Given the description of an element on the screen output the (x, y) to click on. 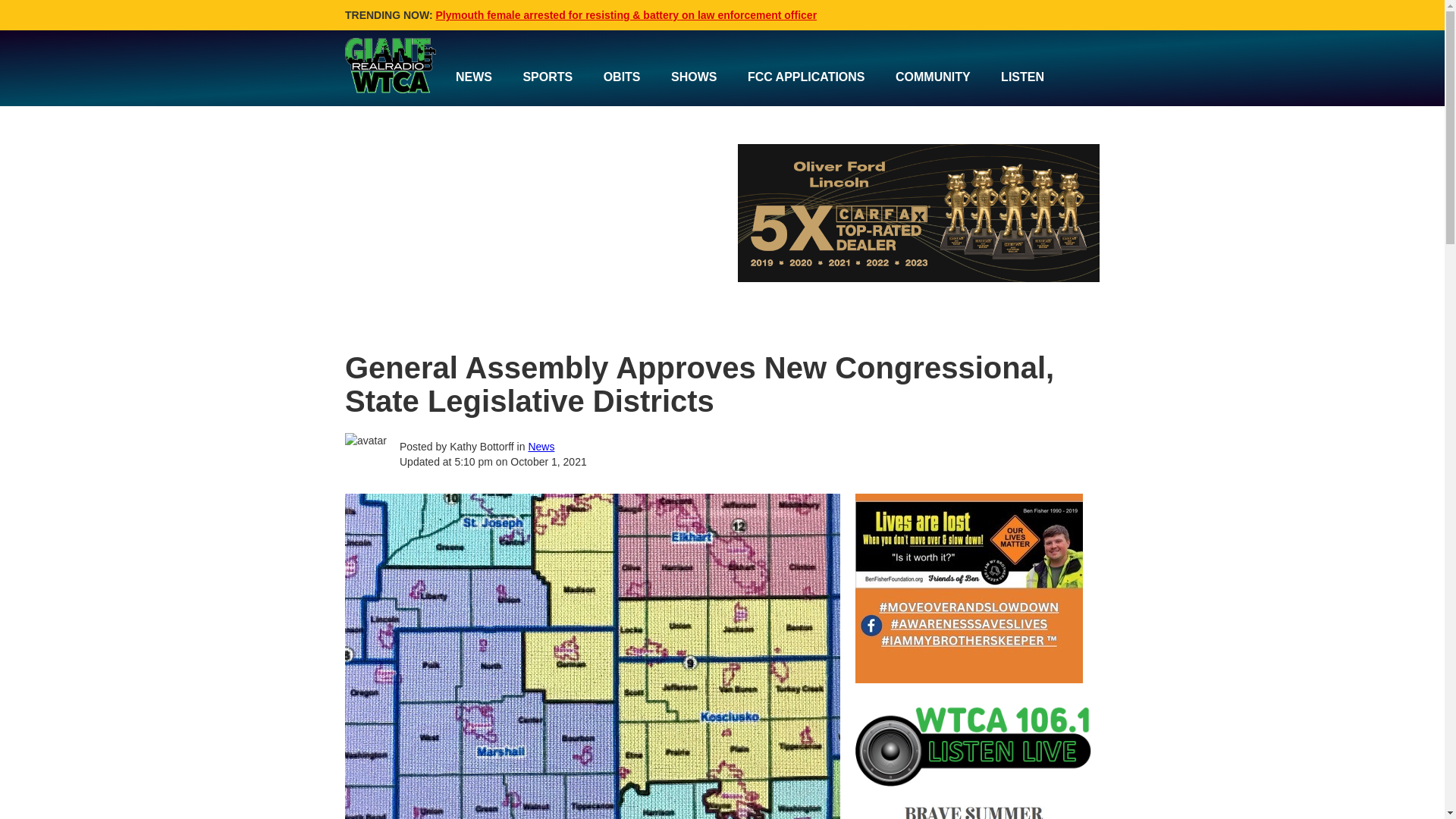
SPORTS (547, 77)
FCC APPLICATIONS (806, 77)
News (540, 446)
SHOWS (694, 77)
OBITS (621, 77)
NEWS (473, 77)
LISTEN (1022, 77)
COMMUNITY (933, 77)
